Given the description of an element on the screen output the (x, y) to click on. 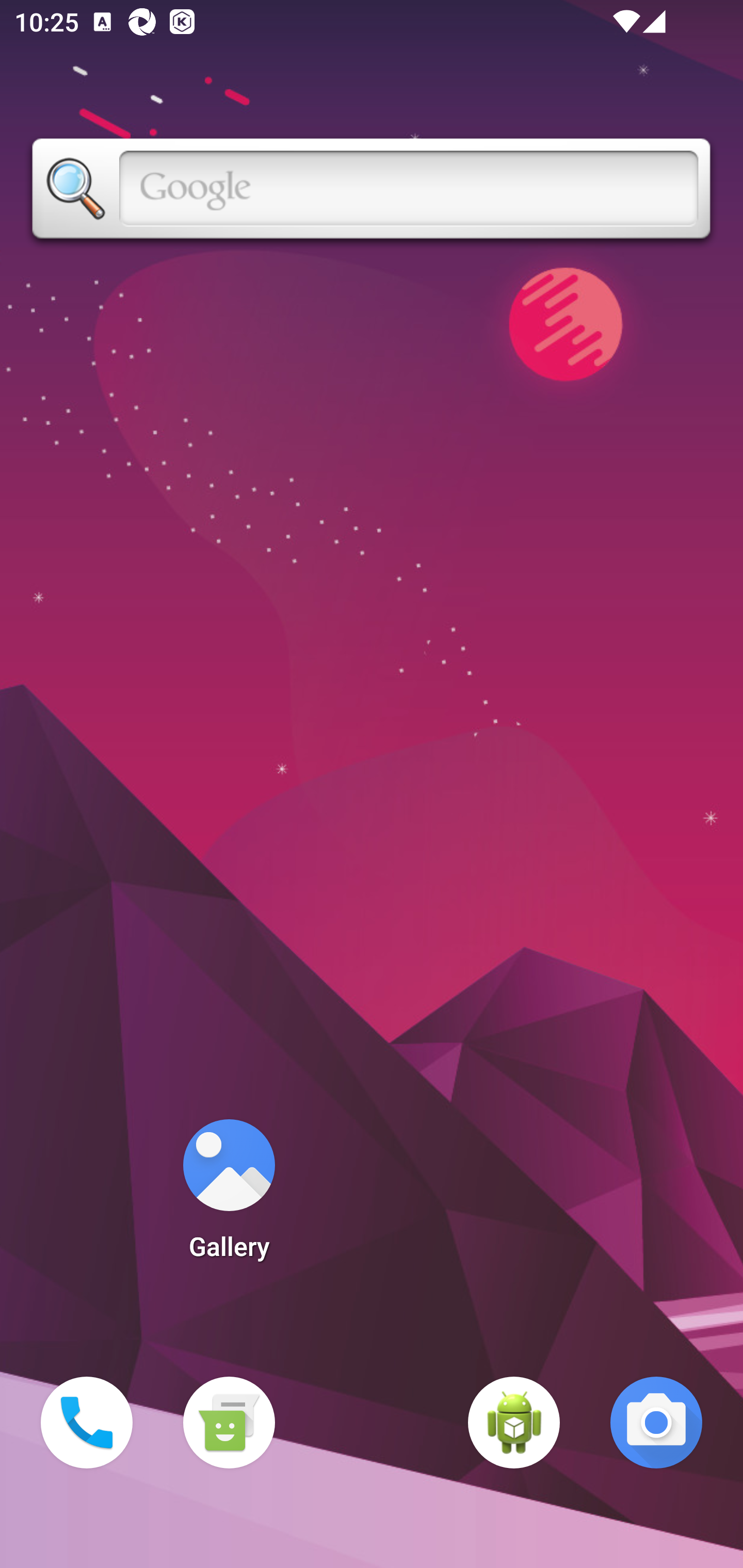
Gallery (228, 1195)
Phone (86, 1422)
Messaging (228, 1422)
WebView Browser Tester (513, 1422)
Camera (656, 1422)
